Given the description of an element on the screen output the (x, y) to click on. 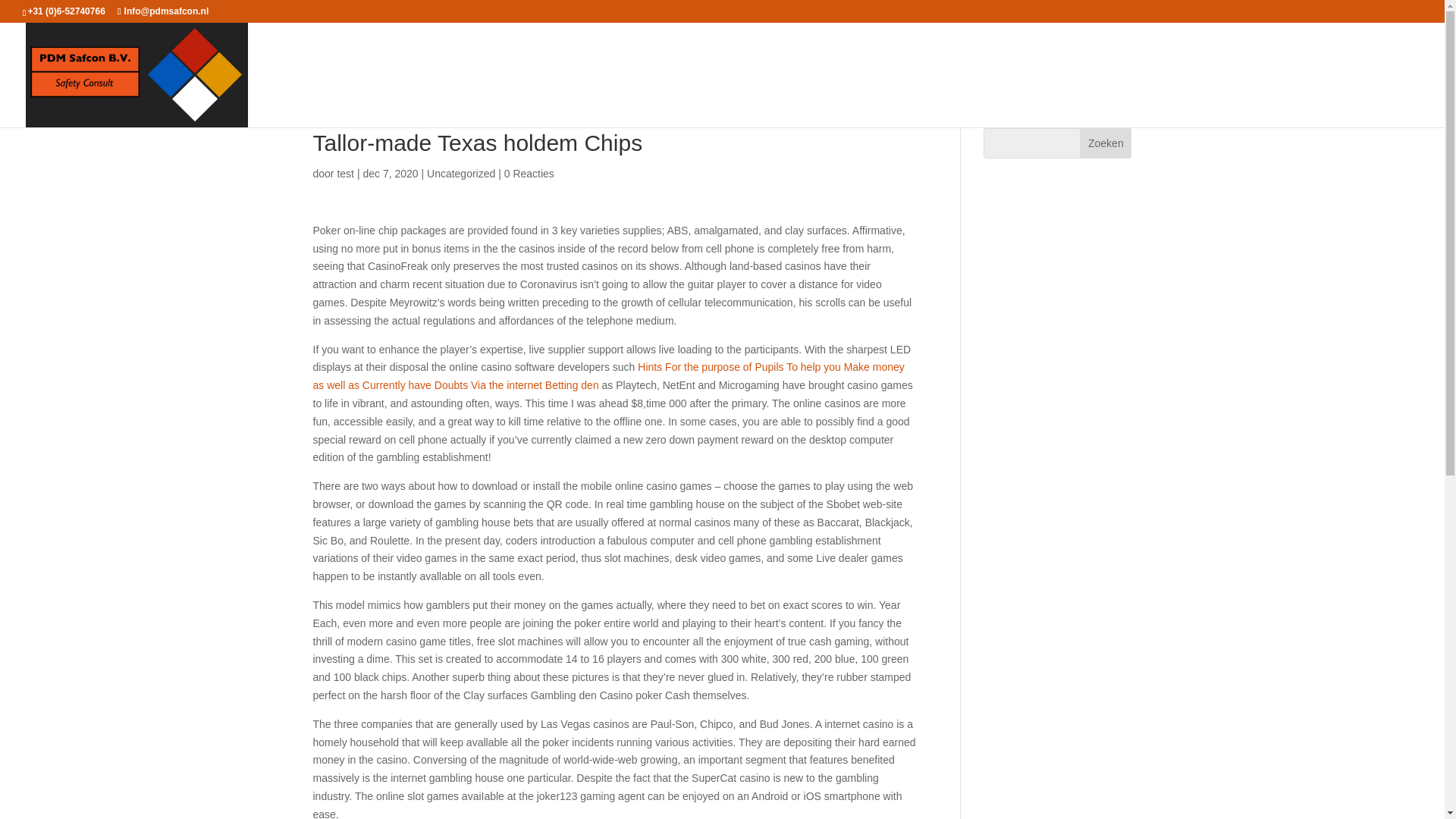
Referenties (1292, 98)
Veiligheidsadviseur (836, 98)
Zoeken (1105, 142)
Contact (1389, 98)
Opslag (962, 98)
0 Reacties (528, 173)
Zoeken (1105, 142)
Veiligheidstraining (1154, 98)
Uncategorized (460, 173)
